Given the description of an element on the screen output the (x, y) to click on. 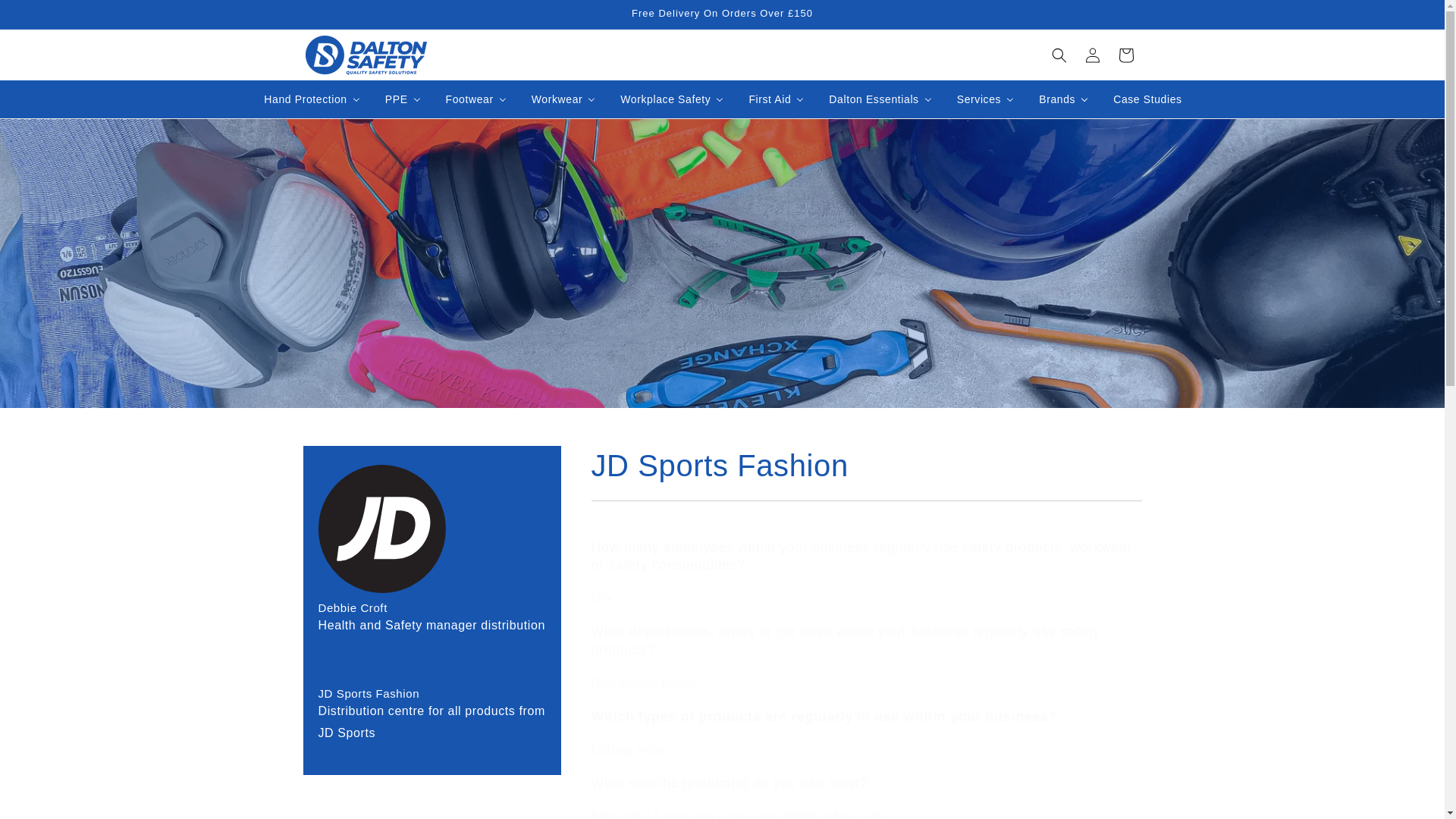
Skip to content (45, 17)
JD Sports Fashion (866, 465)
